Given the description of an element on the screen output the (x, y) to click on. 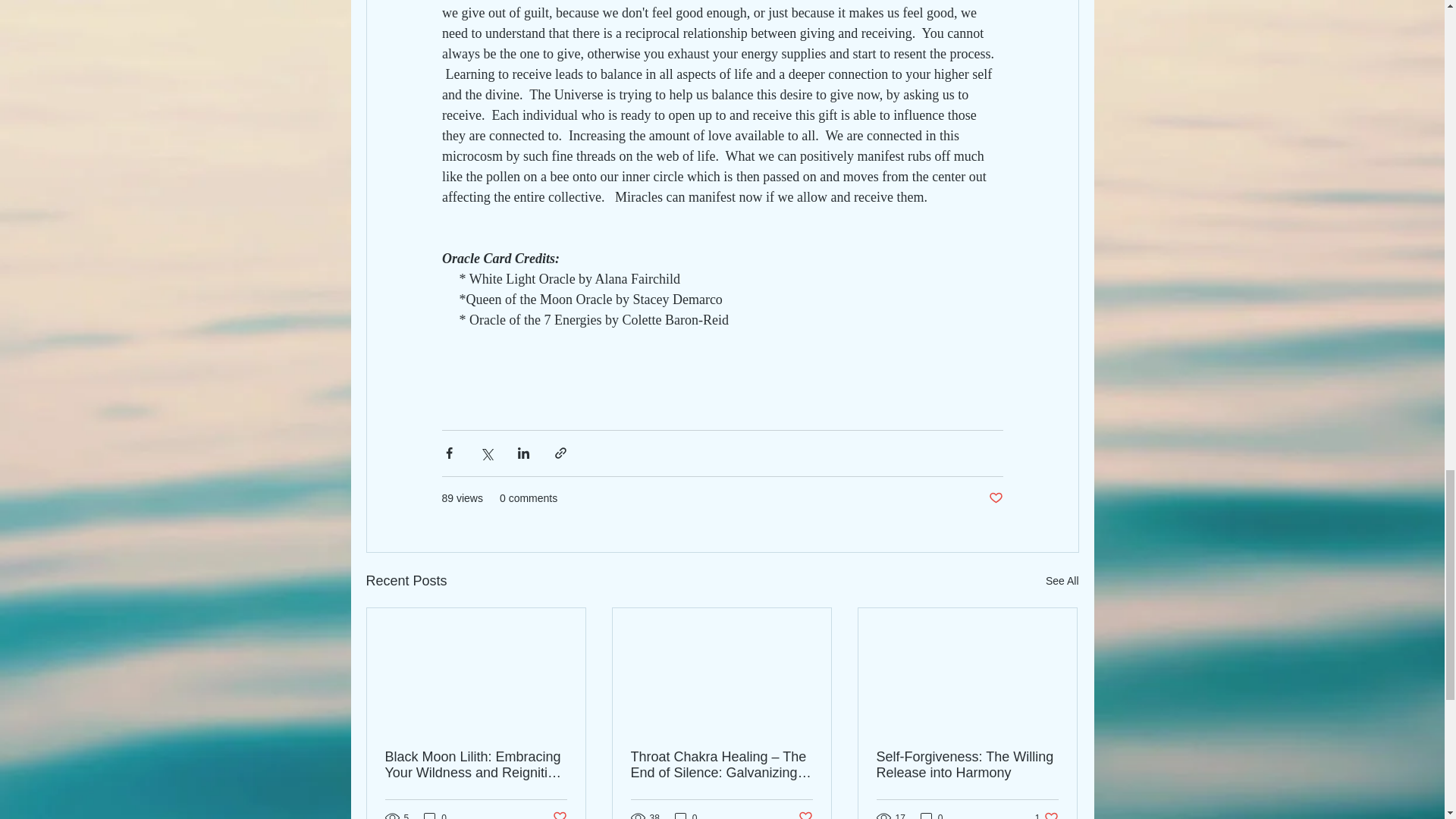
Post not marked as liked (804, 814)
See All (1061, 581)
0 (685, 814)
Self-Forgiveness: The Willing Release into Harmony (967, 765)
Post not marked as liked (995, 498)
0 (435, 814)
0 (1046, 814)
Post not marked as liked (931, 814)
